Given the description of an element on the screen output the (x, y) to click on. 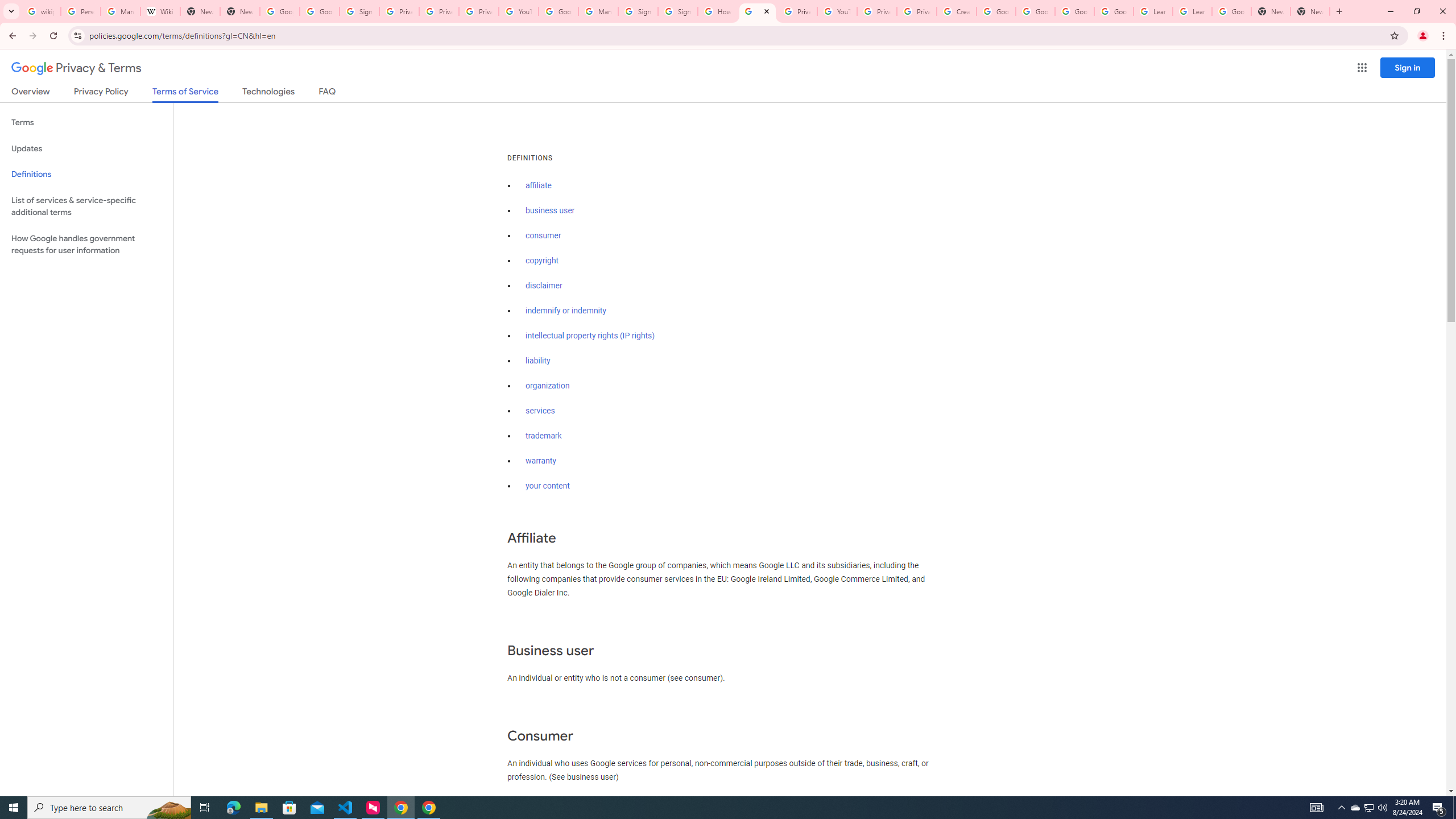
trademark (543, 435)
New Tab (1310, 11)
Sign in - Google Accounts (637, 11)
your content (547, 486)
New Tab (239, 11)
disclaimer (543, 285)
How Google handles government requests for user information (86, 244)
